Given the description of an element on the screen output the (x, y) to click on. 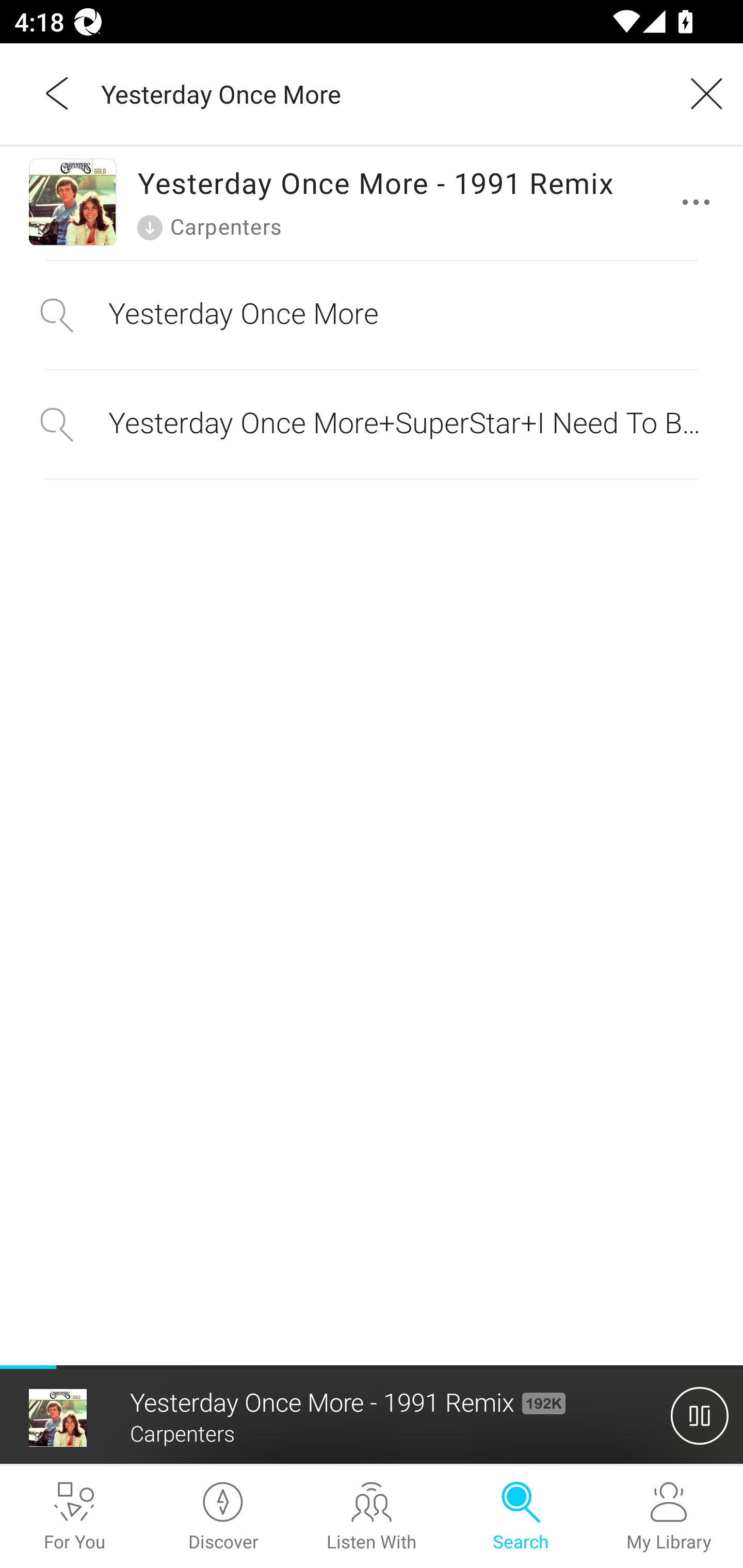
Yesterday Once More (378, 92)
Clear query (699, 92)
Back,outside of the list (57, 93)
更多操作選項 (699, 202)
Yesterday Once More (371, 315)
Yesterday Once More+SuperStar+I Need To Be In Love (371, 424)
暫停播放 (699, 1415)
For You (74, 1517)
Discover (222, 1517)
Listen With (371, 1517)
Search (519, 1517)
My Library (668, 1517)
